Given the description of an element on the screen output the (x, y) to click on. 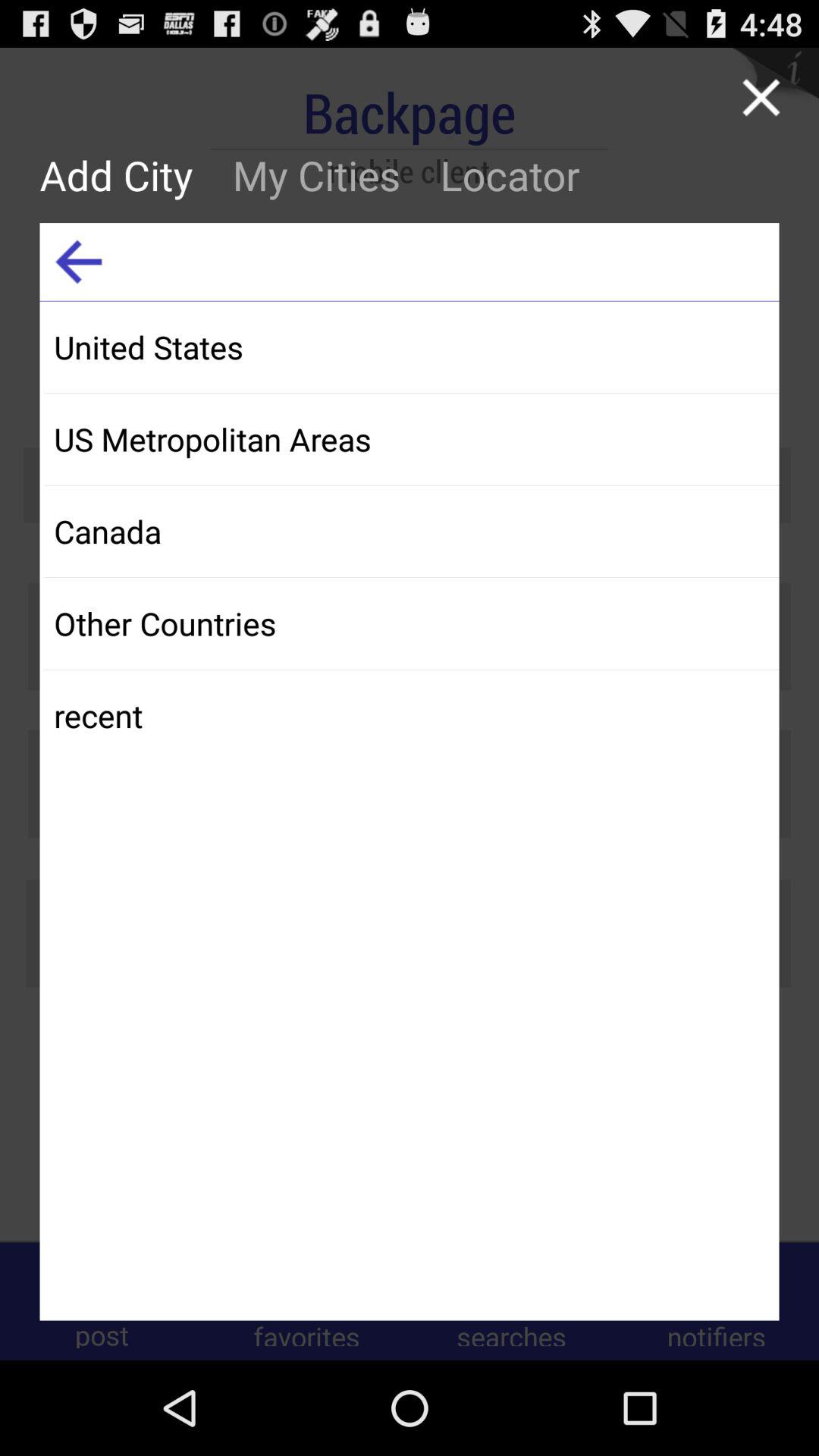
turn off the item below canada (411, 622)
